Given the description of an element on the screen output the (x, y) to click on. 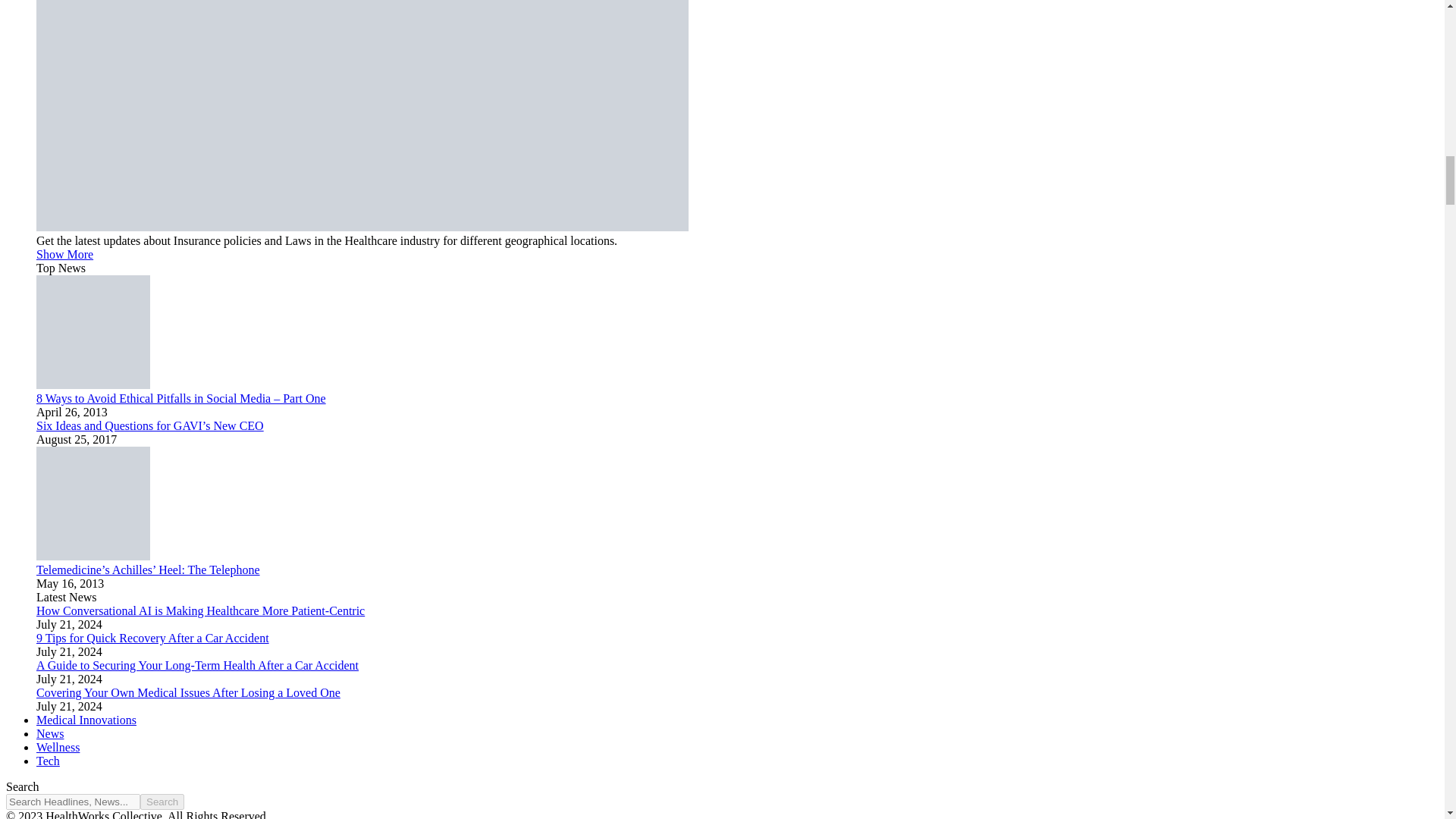
Show More (64, 254)
Wellness (58, 747)
Tech (47, 760)
Search (161, 801)
Medical Innovations (86, 719)
Covering Your Own Medical Issues After Losing a Loved One (188, 692)
News (50, 733)
9 Tips for Quick Recovery After a Car Accident (152, 637)
Search (161, 801)
